Given the description of an element on the screen output the (x, y) to click on. 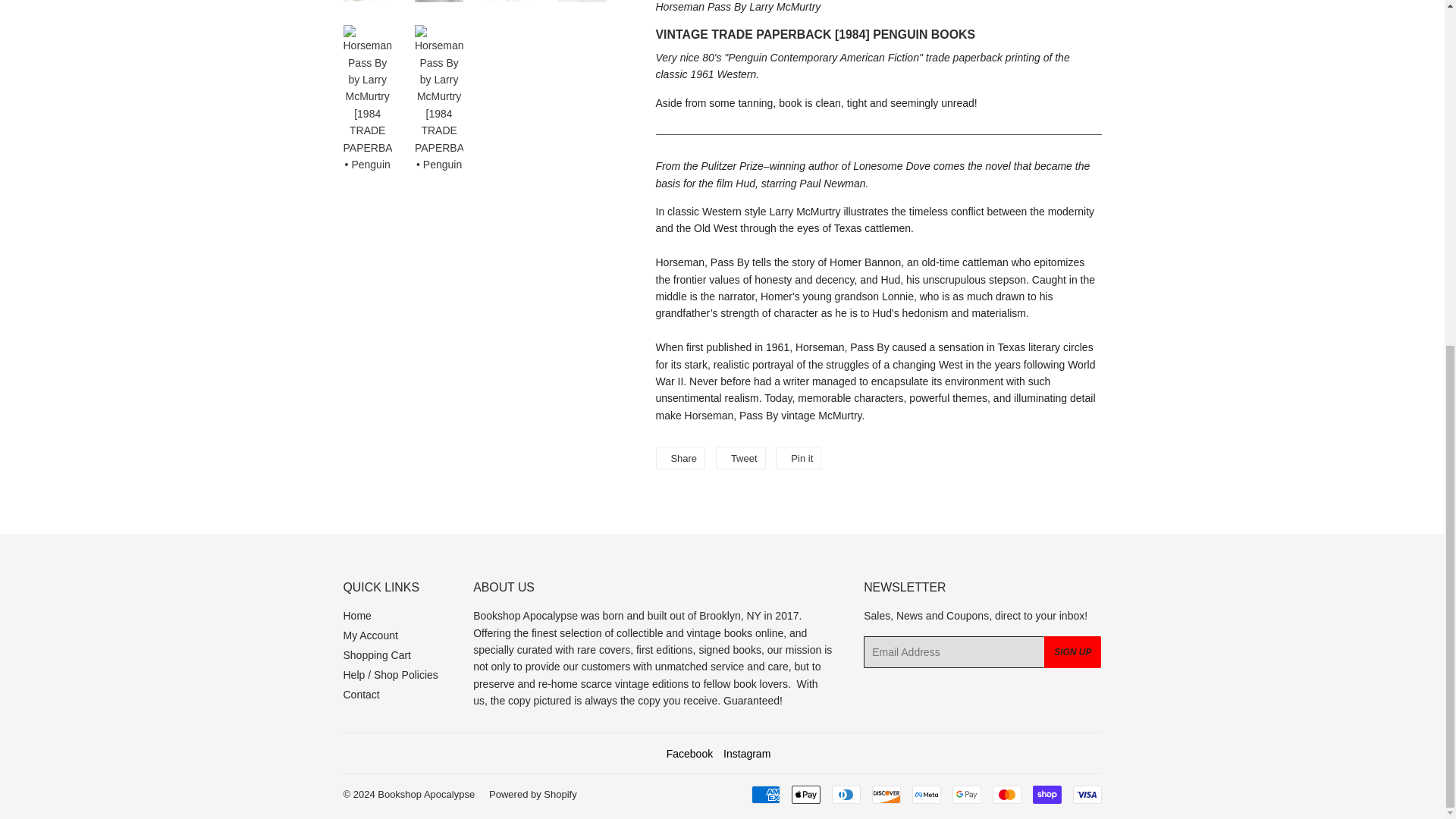
Apple Pay (806, 794)
Google Pay (966, 794)
Meta Pay (925, 794)
Visa (1085, 794)
Mastercard (1005, 794)
Tweet on Twitter (740, 457)
American Express (764, 794)
Discover (886, 794)
Bookshop Apocalypse on Facebook (689, 753)
Bookshop Apocalypse on Instagram (746, 753)
